Given the description of an element on the screen output the (x, y) to click on. 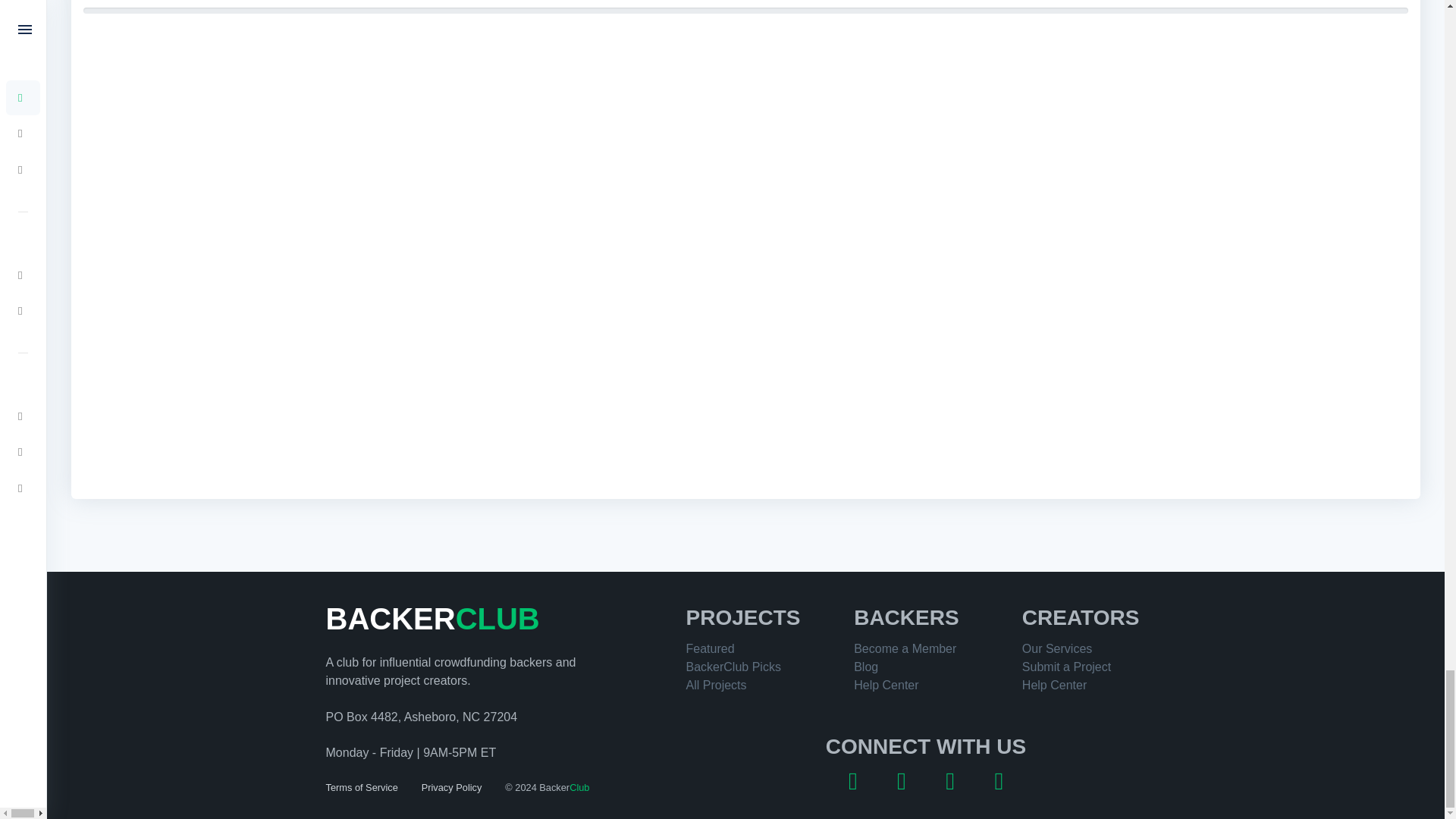
Help Center (1054, 684)
Featured (710, 648)
BackerClub Picks (732, 666)
Submit a Project (1066, 666)
Privacy Policy (451, 787)
BACKERCLUB (433, 618)
Blog (865, 666)
Become a Member (904, 648)
Terms of Service (361, 787)
All Projects (715, 684)
